Given the description of an element on the screen output the (x, y) to click on. 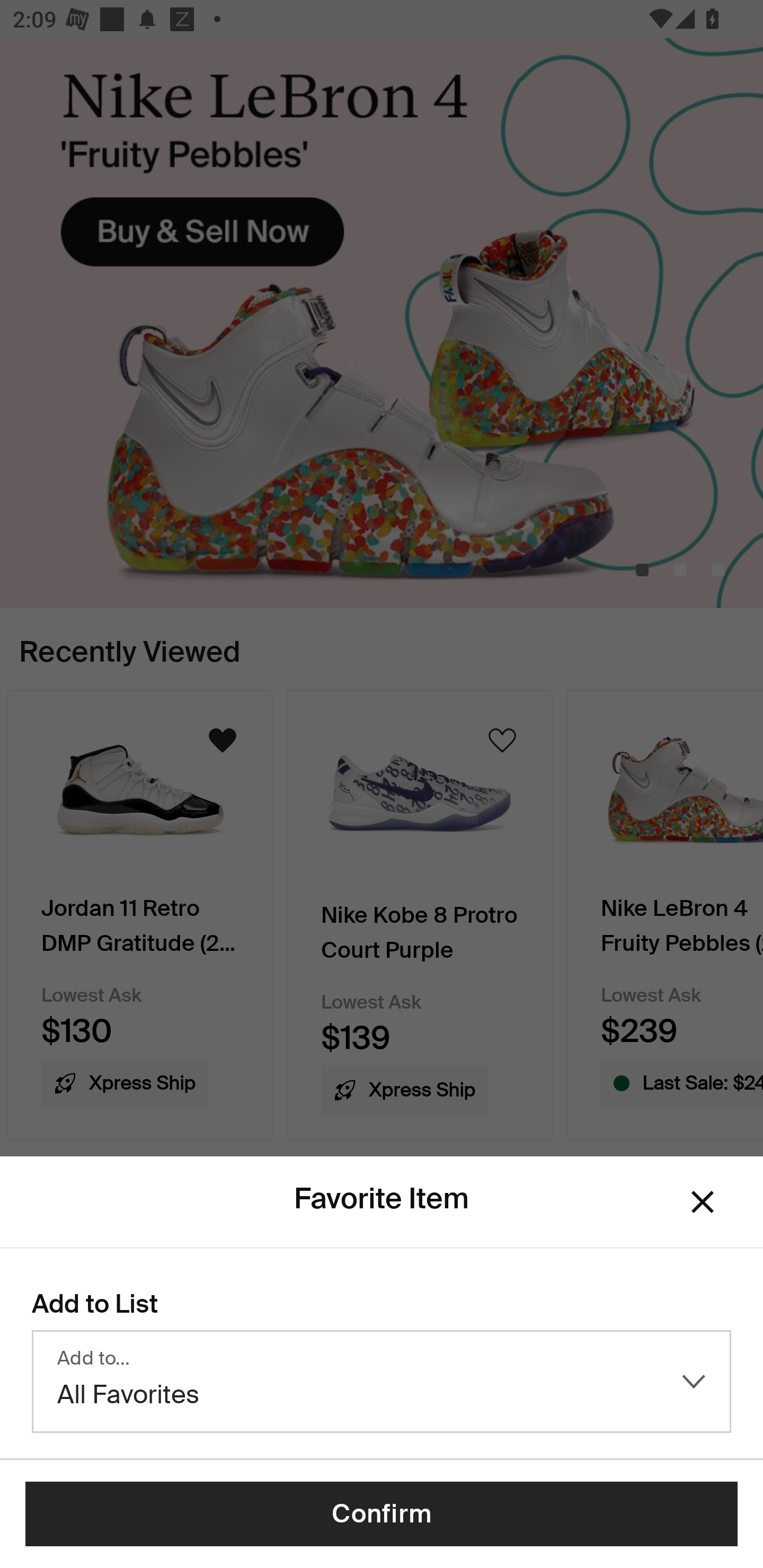
Dismiss (702, 1201)
Add to… All Favorites (381, 1381)
Confirm (381, 1513)
